Given the description of an element on the screen output the (x, y) to click on. 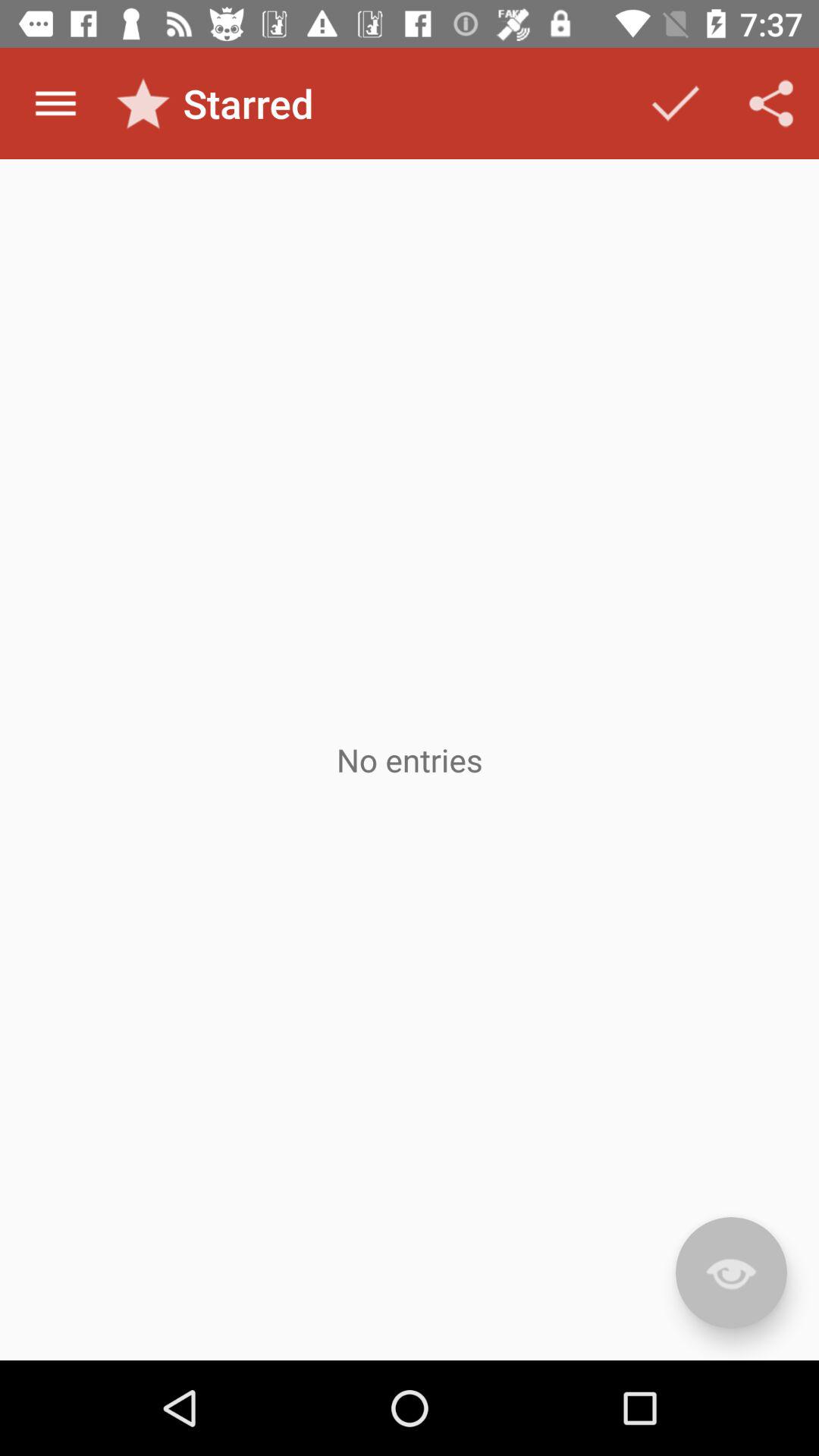
turn on the app next to the starred app (675, 103)
